Given the description of an element on the screen output the (x, y) to click on. 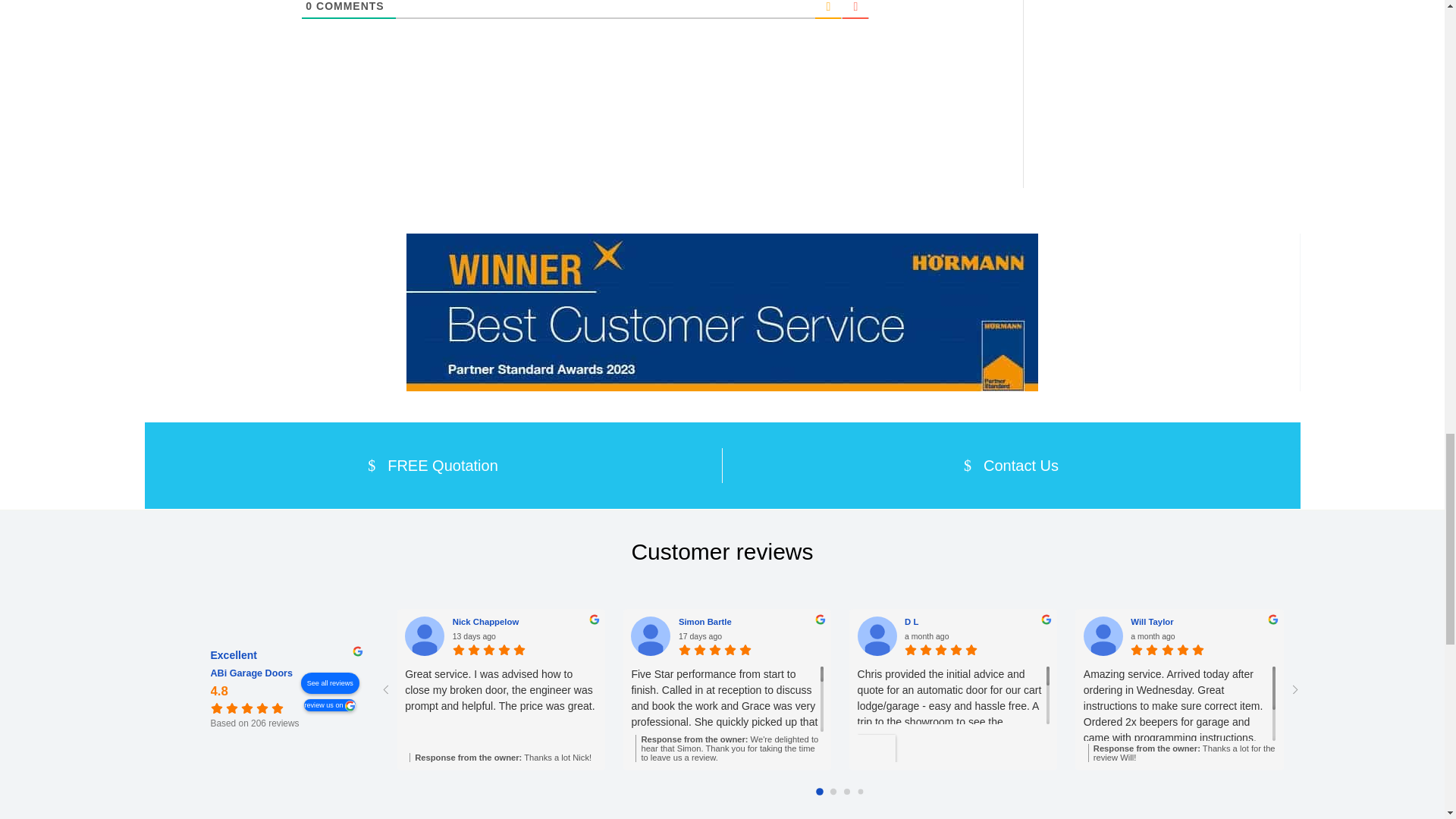
Response from the owner: Thanks a lot Nick! (502, 757)
Response from the owner: Thanks a lot for the review Will! (1181, 752)
